Given the description of an element on the screen output the (x, y) to click on. 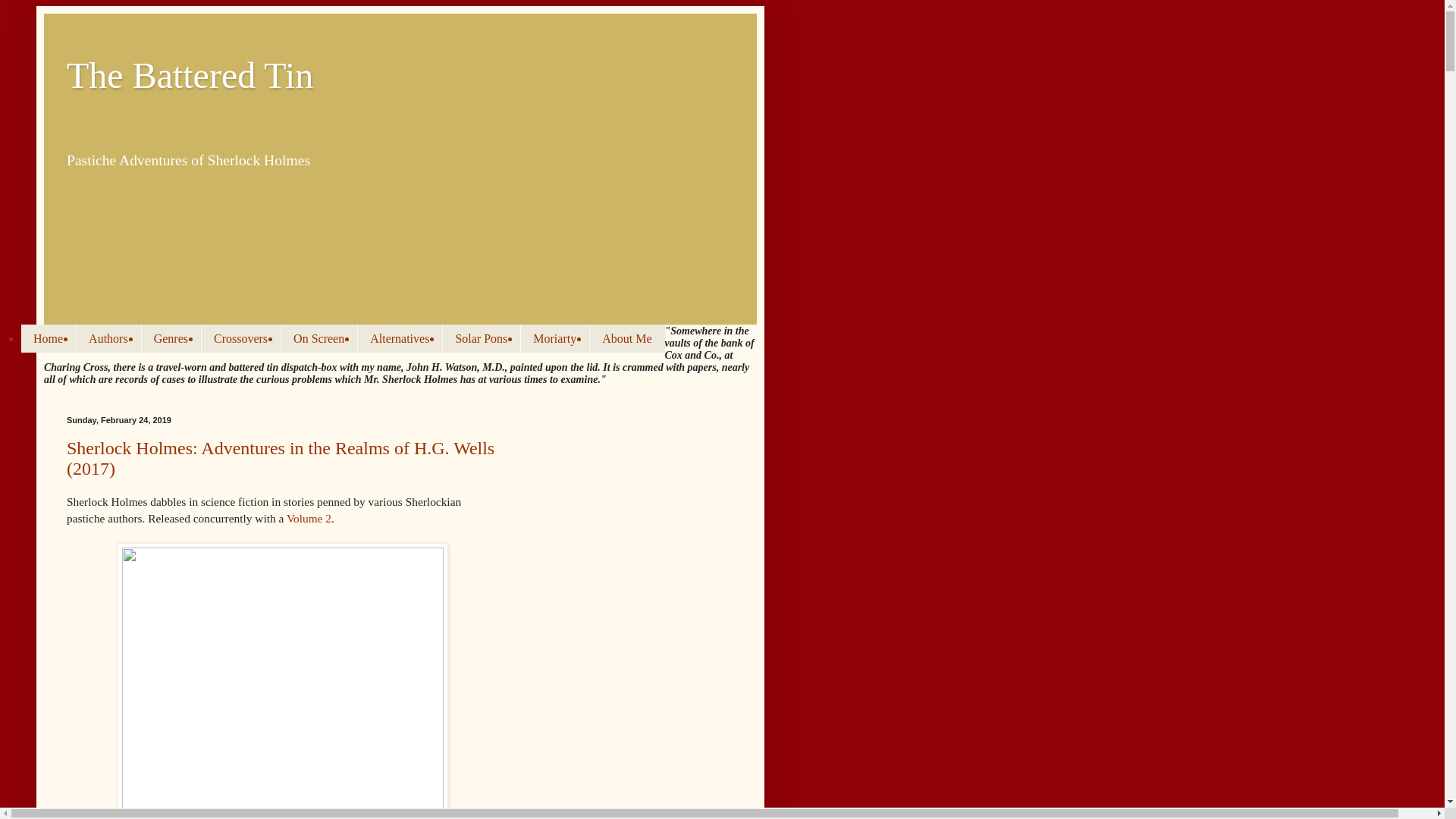
Genres (170, 338)
The Battered Tin (189, 75)
Crossovers (240, 338)
Authors (108, 338)
Home (48, 338)
